Given the description of an element on the screen output the (x, y) to click on. 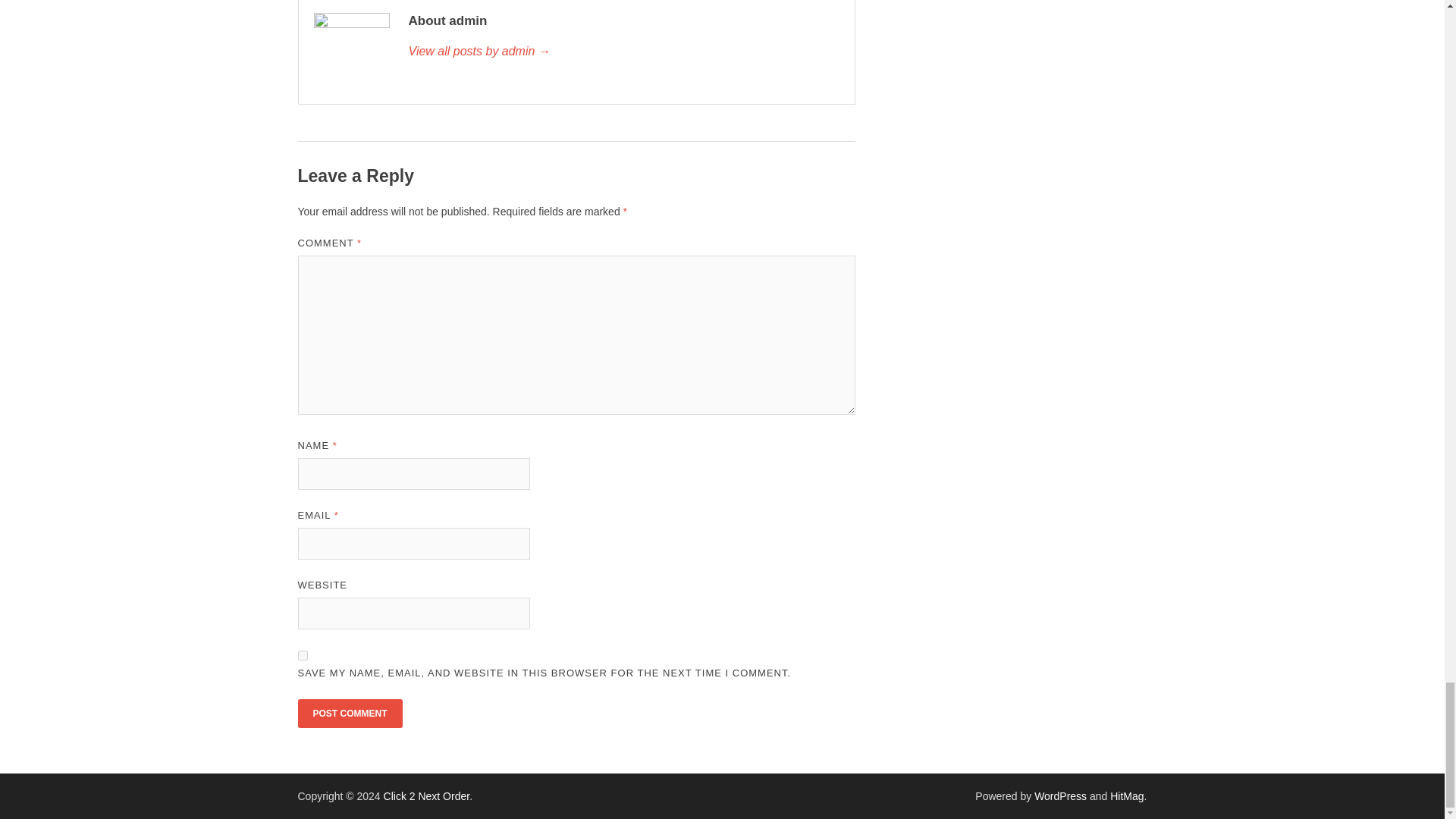
admin (622, 51)
Post Comment (349, 713)
yes (302, 655)
HitMag WordPress Theme (1125, 796)
WordPress (1059, 796)
Click 2 Next Order (427, 796)
